Given the description of an element on the screen output the (x, y) to click on. 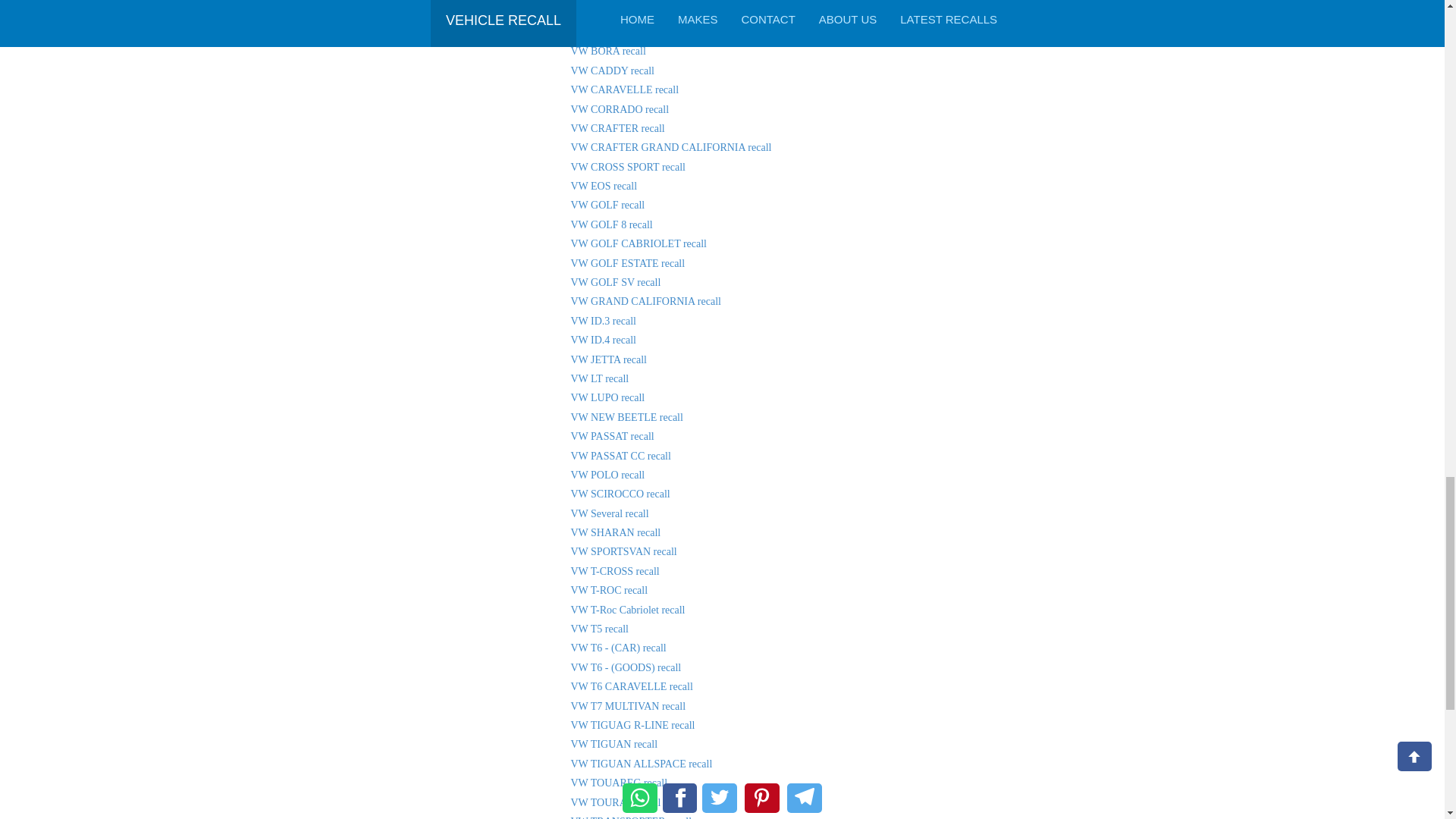
VW CADDY recall (611, 70)
VW ATREON Recalls in UK (614, 12)
VW CRAFTER recall (616, 128)
VW BORA Recalls in UK (607, 50)
VW ID.3 recall (602, 320)
VW ID.4 recall (602, 339)
VW GRAND CALIFORNIA recall (645, 301)
VW BEETLE recall (613, 31)
VW ATREON recall (614, 12)
VW CRAFTER GRAND CALIFORNIA Recalls in UK (670, 147)
